Given the description of an element on the screen output the (x, y) to click on. 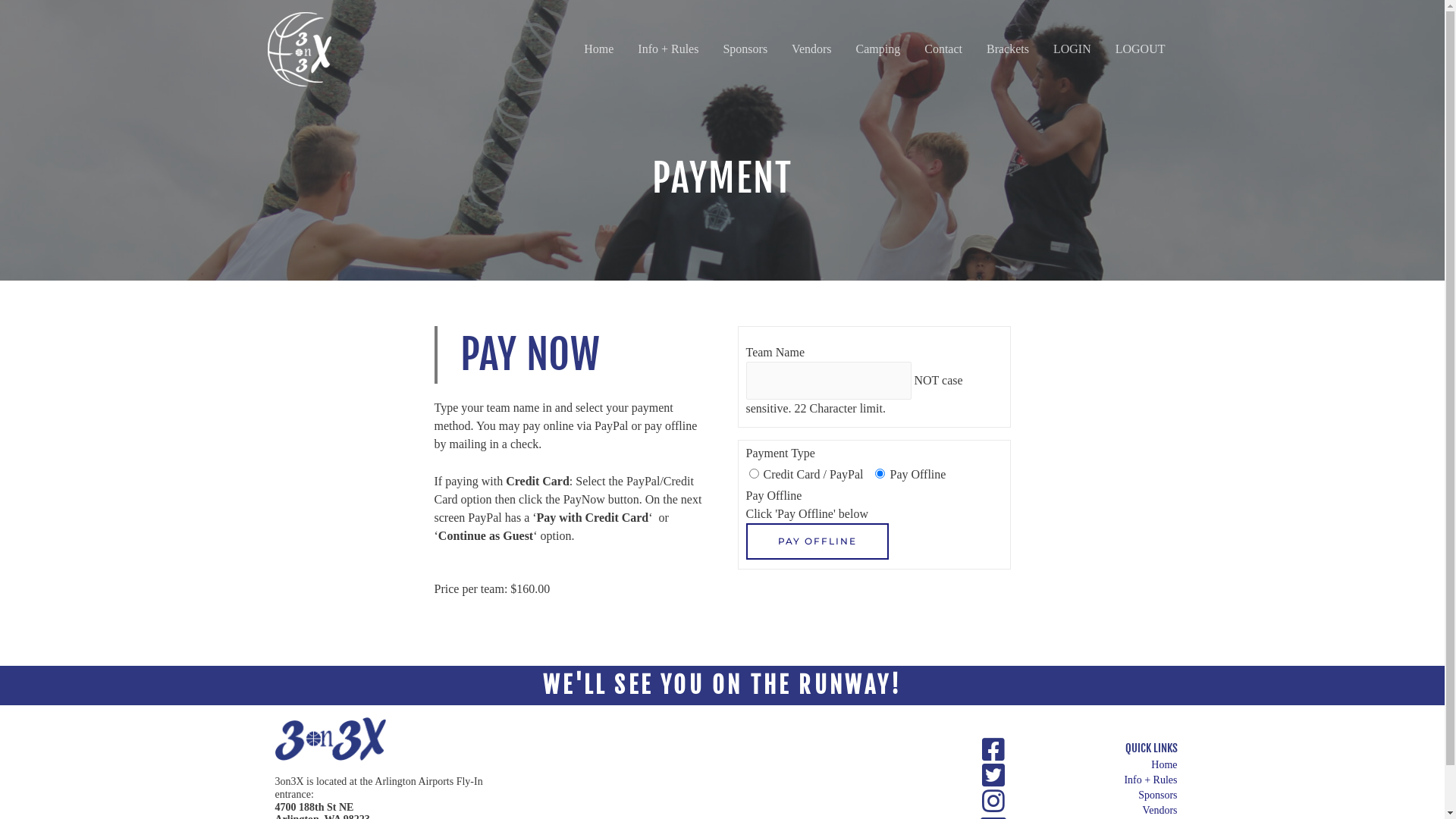
Info + Rules Element type: text (667, 48)
Brackets Element type: text (1007, 48)
Camping Element type: text (878, 48)
Vendors Element type: text (811, 48)
Info + Rules Element type: text (1118, 779)
Home Element type: text (598, 48)
Sponsors Element type: text (744, 48)
QUICK LINKS Element type: text (1151, 747)
LOGOUT Element type: text (1140, 48)
Home Element type: text (1118, 764)
Contact Element type: text (943, 48)
Sponsors Element type: text (1118, 795)
Vendors Element type: text (1118, 810)
LOGIN Element type: text (1072, 48)
Pay Offline Element type: text (817, 541)
